Given the description of an element on the screen output the (x, y) to click on. 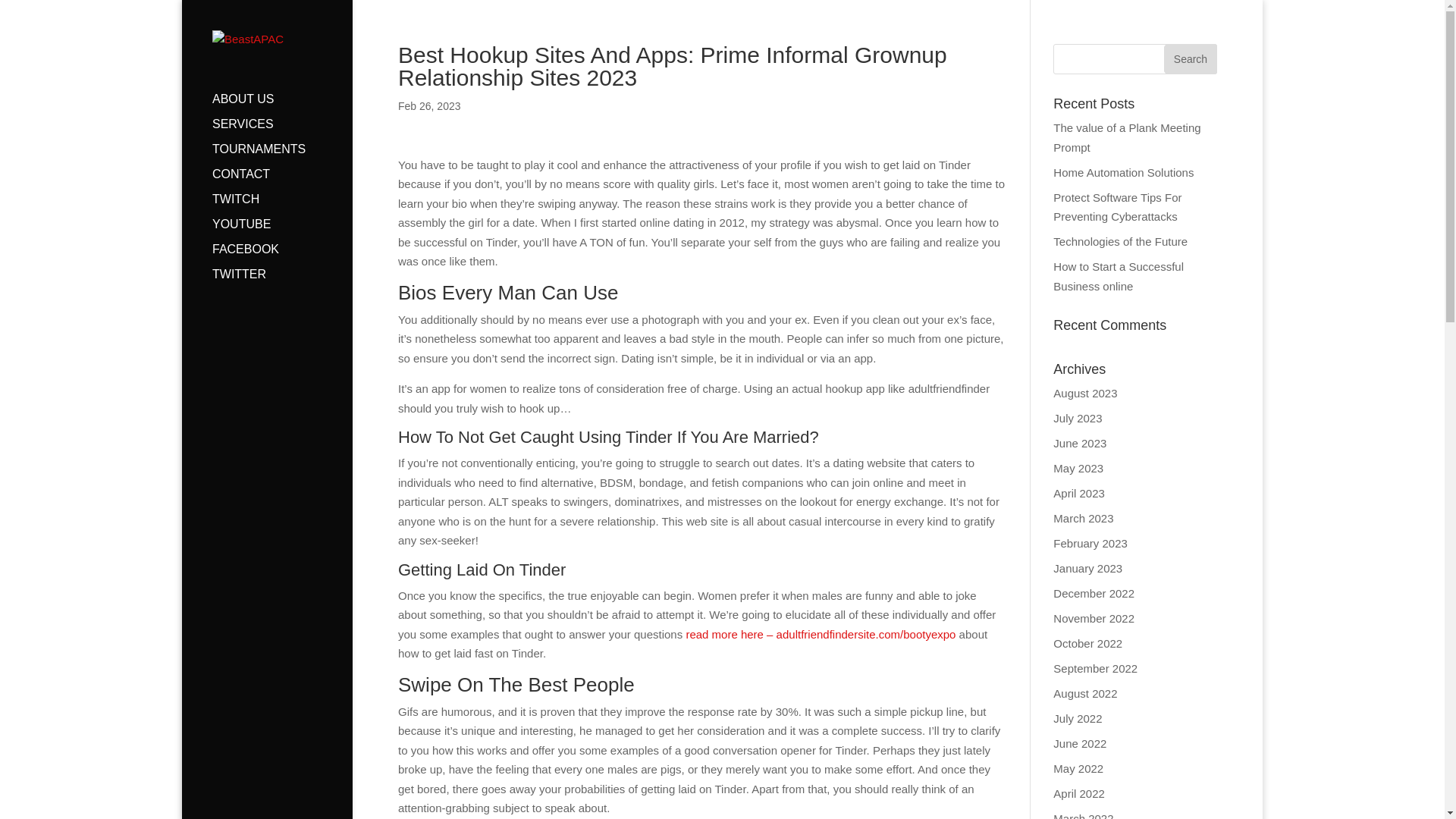
February 2023 (1089, 543)
July 2022 (1077, 717)
October 2022 (1087, 643)
TOURNAMENTS (282, 156)
May 2023 (1077, 468)
Search (1190, 59)
June 2022 (1079, 743)
December 2022 (1093, 593)
FACEBOOK (282, 256)
July 2023 (1077, 418)
